Given the description of an element on the screen output the (x, y) to click on. 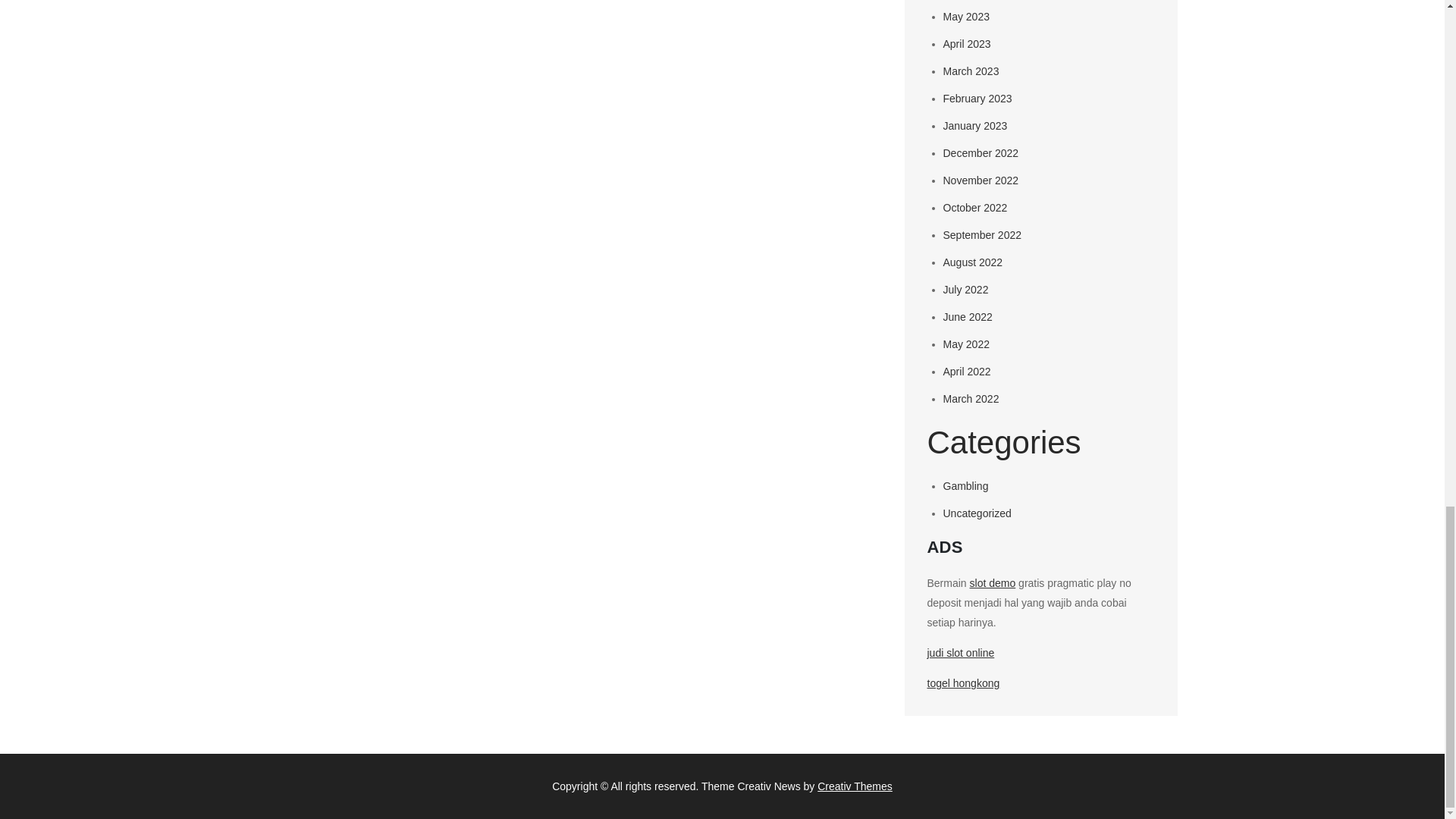
February 2023 (977, 98)
April 2023 (967, 43)
March 2023 (970, 70)
January 2023 (975, 125)
November 2022 (981, 180)
May 2023 (966, 16)
December 2022 (981, 152)
